Given the description of an element on the screen output the (x, y) to click on. 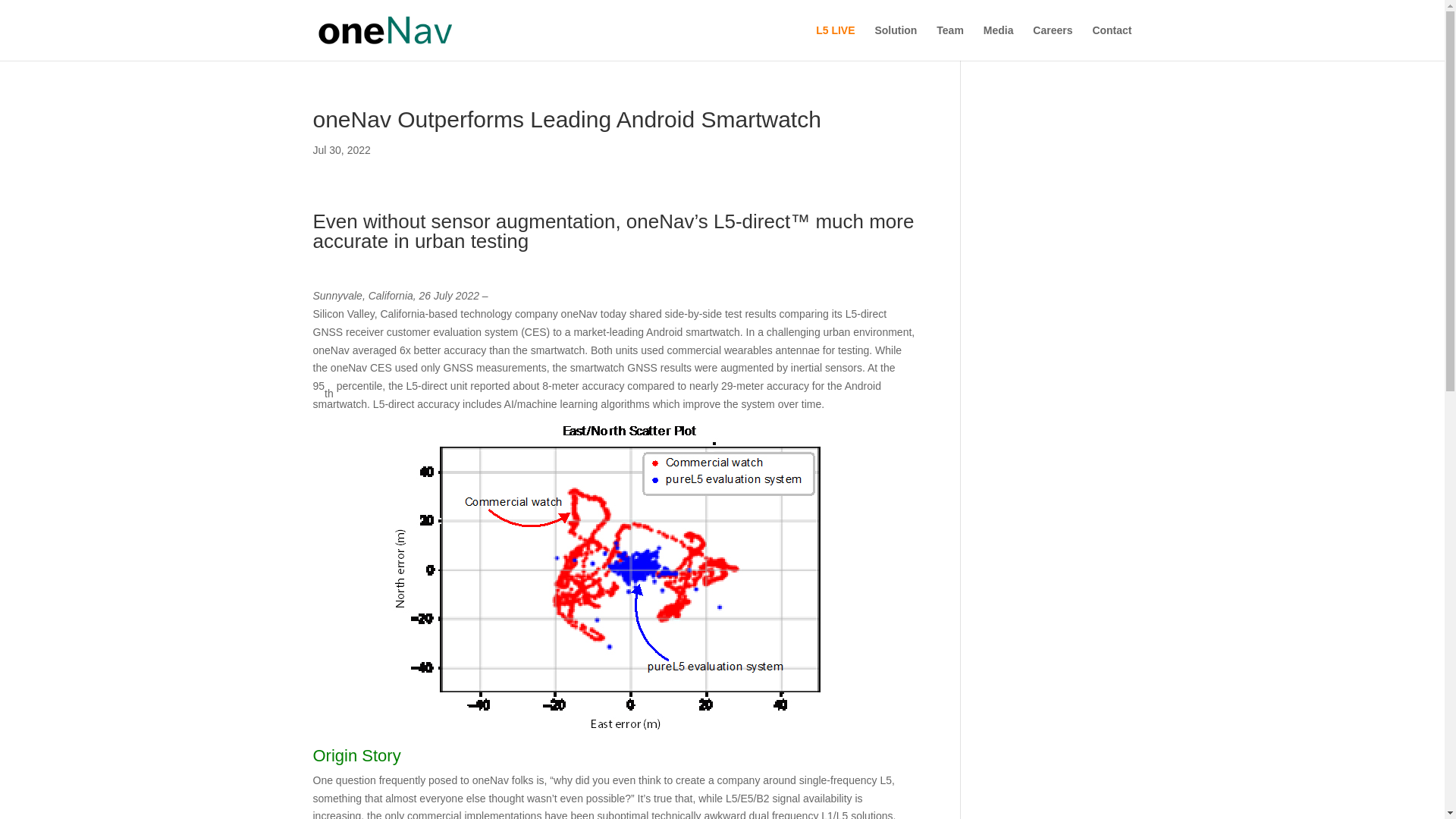
L5 LIVE (834, 42)
Solution (896, 42)
Careers (1051, 42)
Contact (1111, 42)
